Given the description of an element on the screen output the (x, y) to click on. 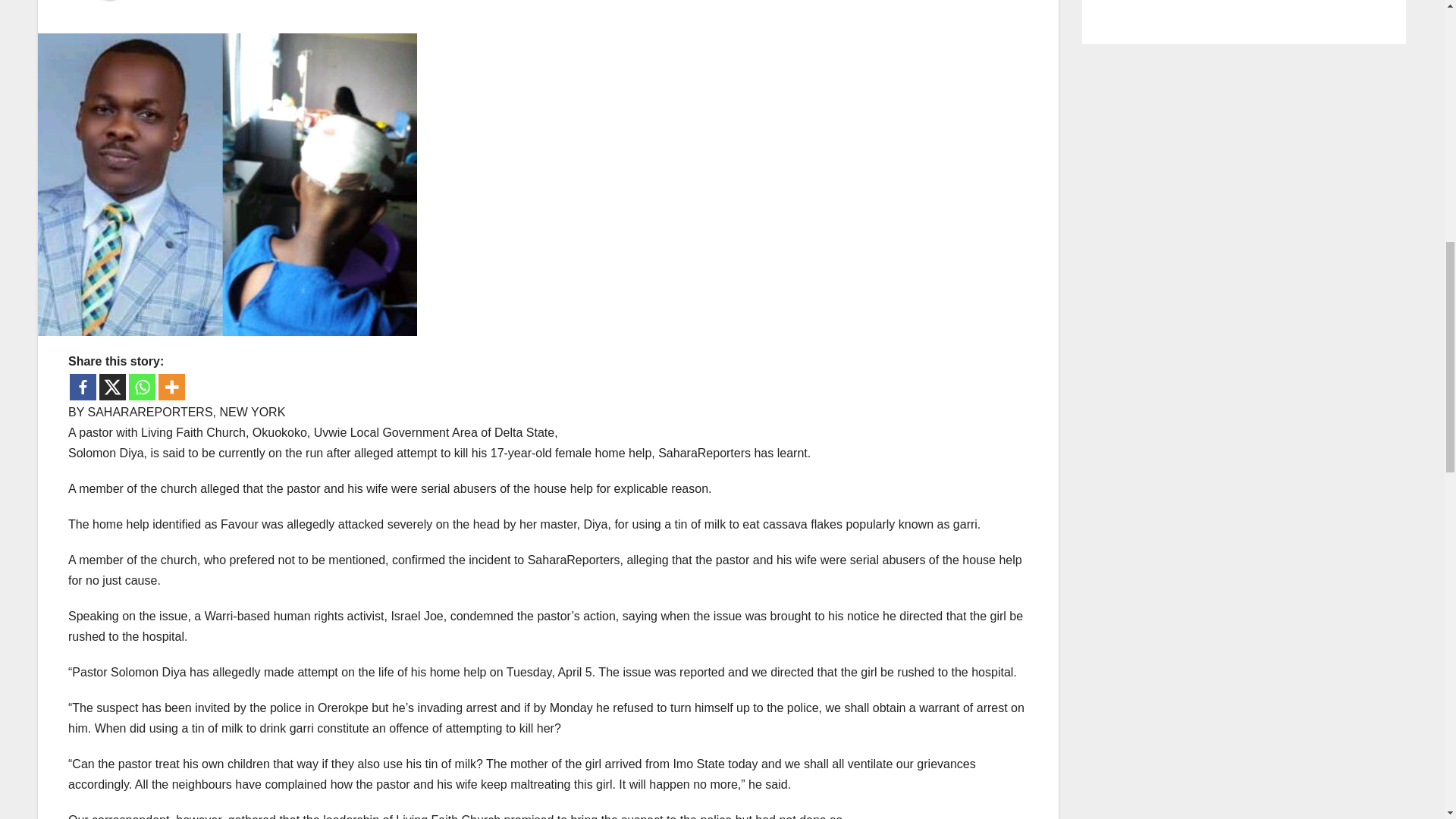
Facebook (82, 386)
X (112, 386)
Whatsapp (142, 386)
